Given the description of an element on the screen output the (x, y) to click on. 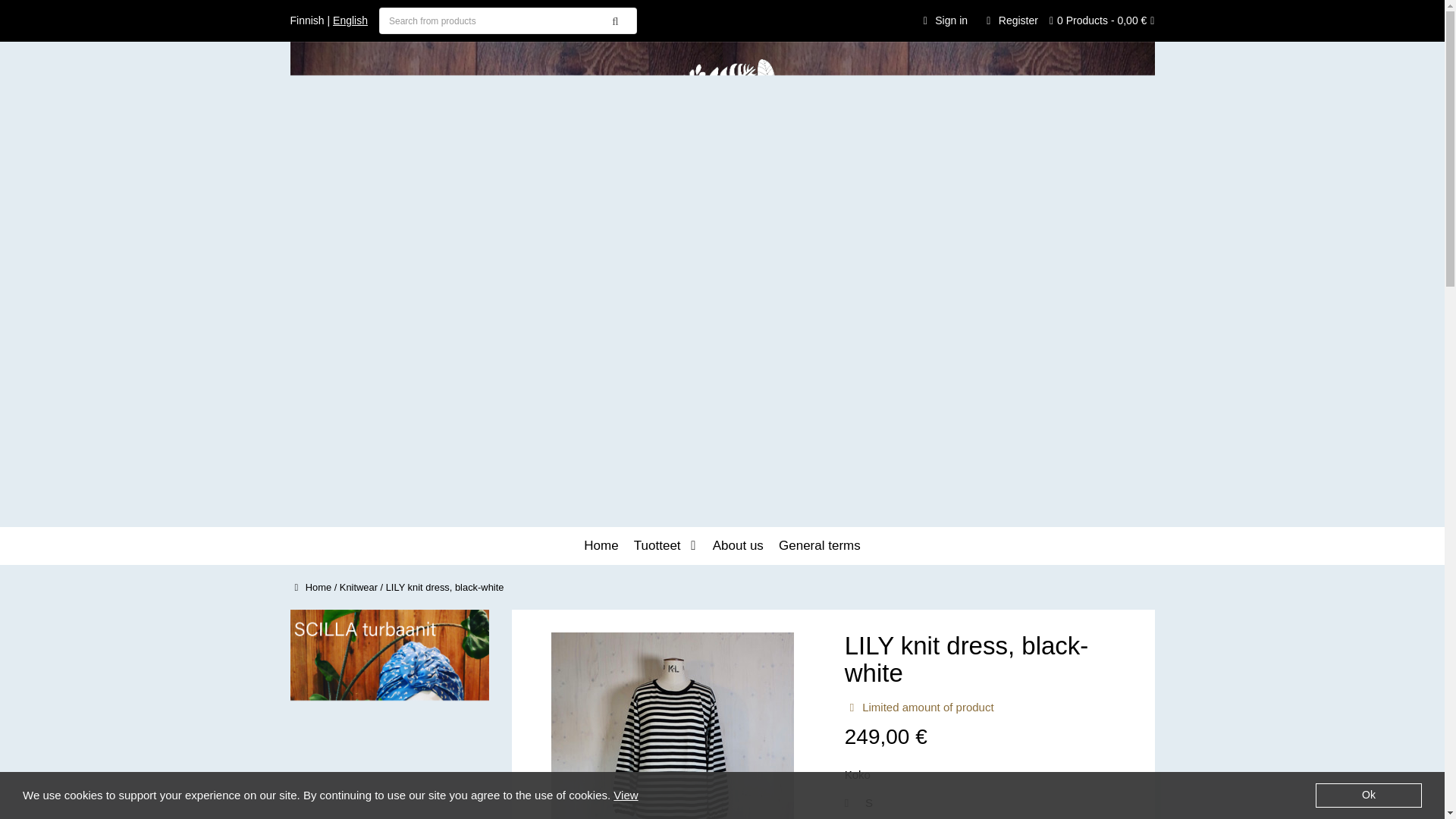
Register (1009, 20)
Sign in (943, 20)
Knitwear (358, 586)
Tuotteet (661, 546)
Home (601, 546)
General terms (819, 546)
Finnish (306, 20)
Home (310, 586)
English (350, 20)
About us (738, 546)
